Given the description of an element on the screen output the (x, y) to click on. 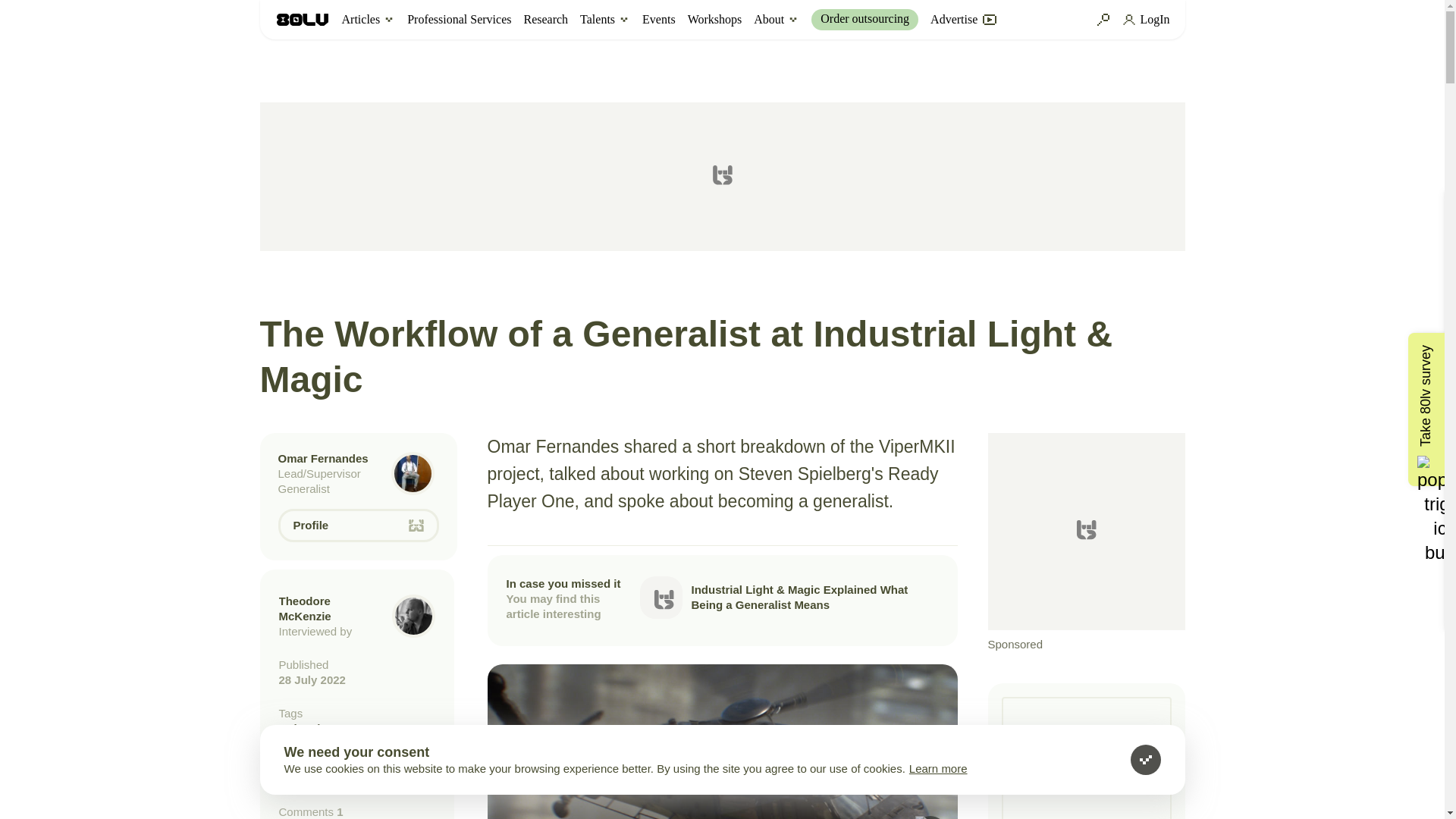
Profile (358, 525)
Animation (357, 728)
Theodore McKenzie (305, 608)
Substance 3D Painter (357, 778)
Order outsourcing (864, 19)
Omar Fernandes (323, 458)
Profile (358, 524)
Interviews (357, 744)
3ds Max (357, 761)
